Given the description of an element on the screen output the (x, y) to click on. 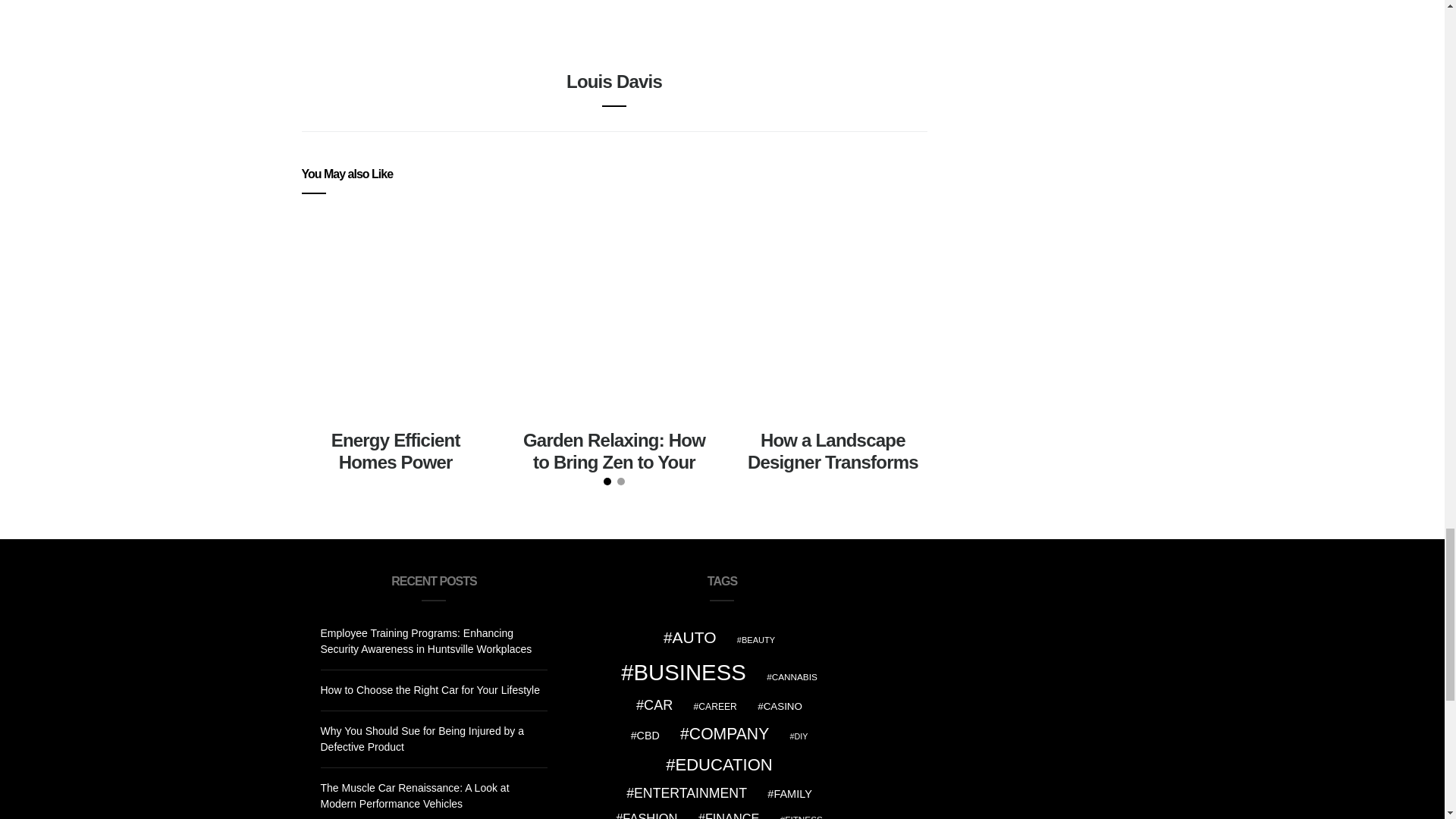
Louis Davis (614, 81)
Posts by Louis Davis (614, 81)
